Given the description of an element on the screen output the (x, y) to click on. 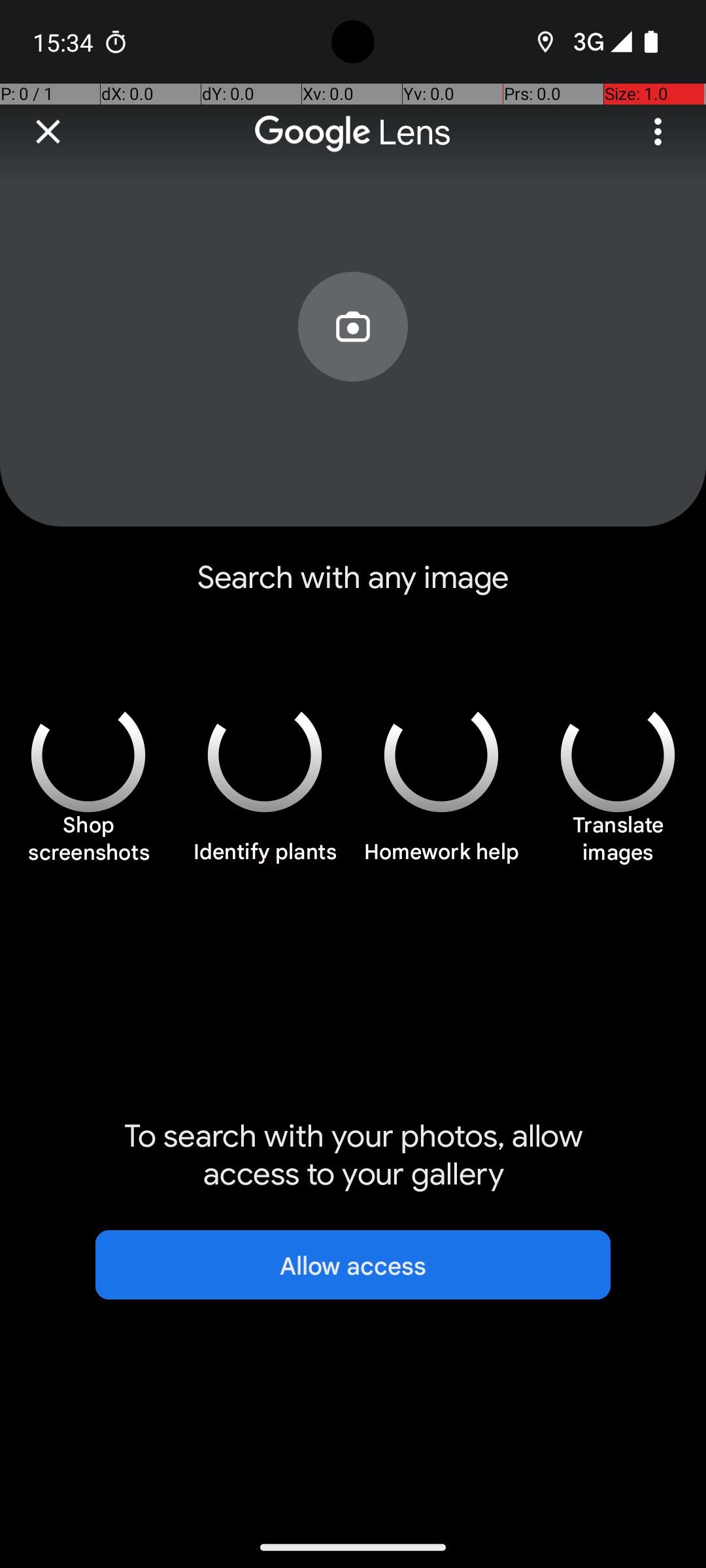
Search with your camera Element type: android.widget.FrameLayout (353, 356)
Search with any image Element type: android.widget.TextView (353, 587)
Shop screenshots Element type: android.widget.TextView (88, 845)
Identify plants Element type: android.widget.TextView (264, 858)
Homework help Element type: android.widget.TextView (441, 858)
Translate images Element type: android.widget.TextView (617, 845)
To search with your photos, allow access to your gallery Element type: android.widget.TextView (352, 1154)
Allow access Element type: android.widget.Button (352, 1264)
